Given the description of an element on the screen output the (x, y) to click on. 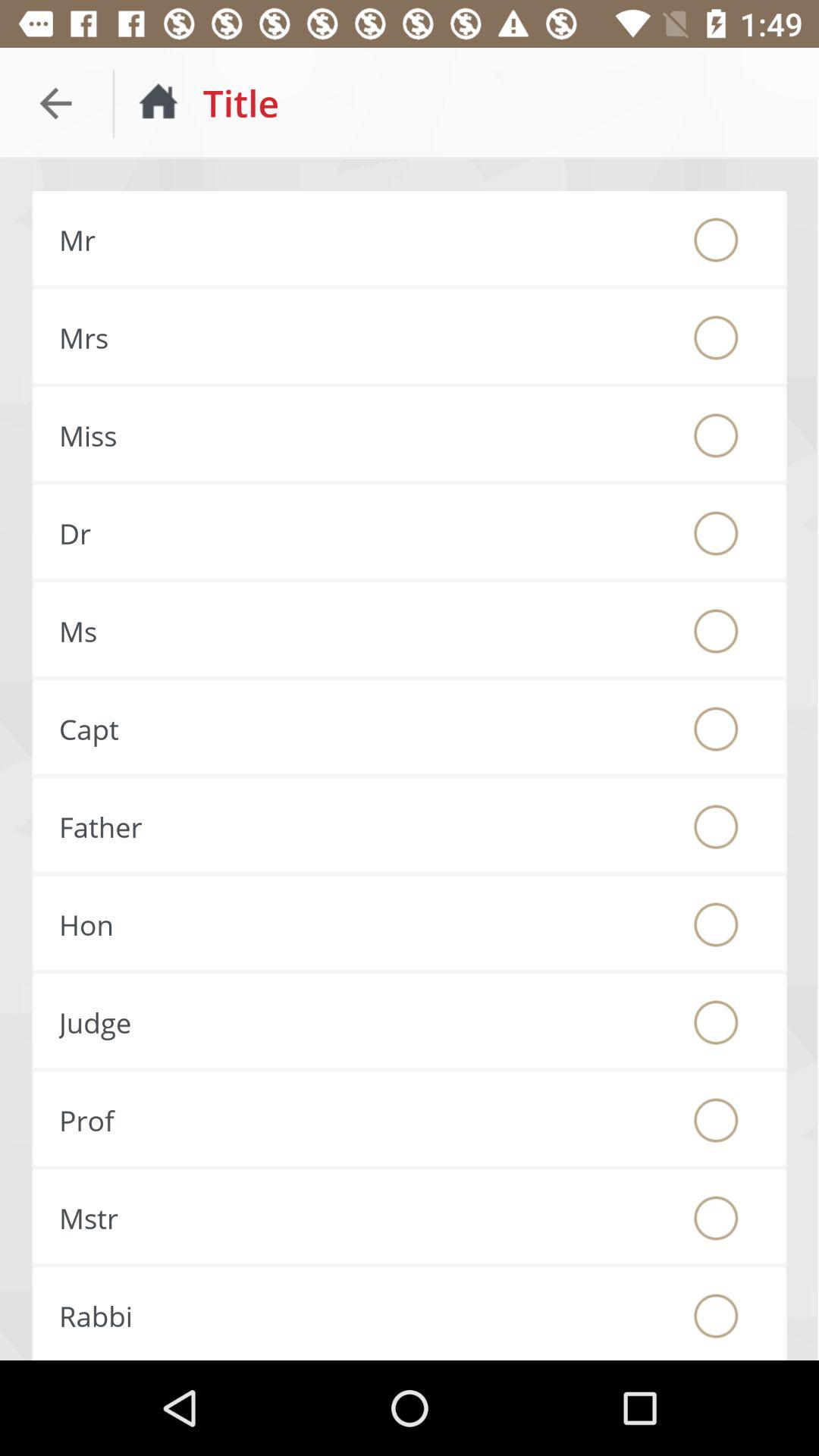
set title to mrs (715, 337)
